Given the description of an element on the screen output the (x, y) to click on. 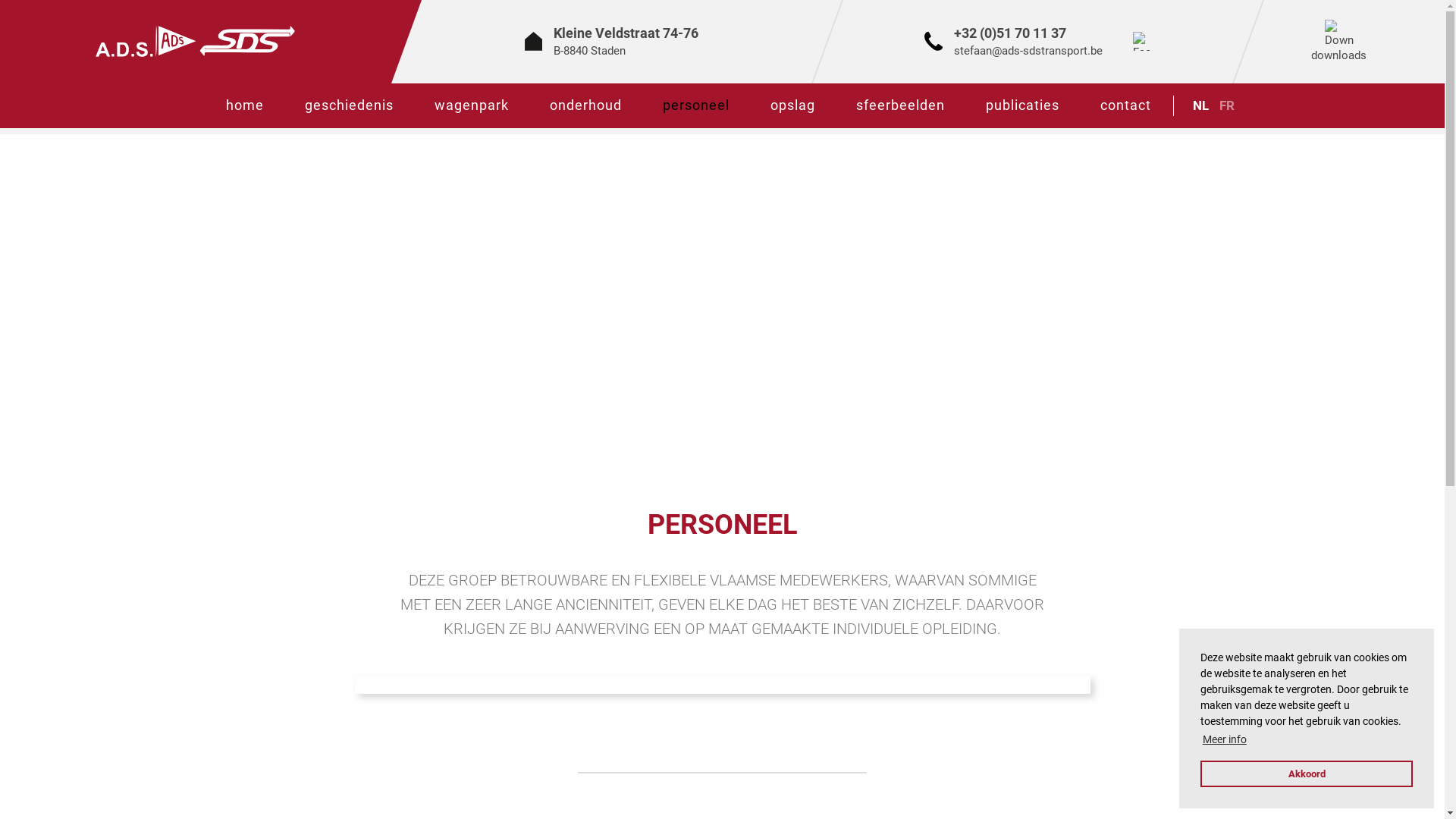
home Element type: text (244, 105)
+32 (0)51 70 11 37 Element type: text (1009, 32)
Meer info Element type: text (1224, 739)
geschiedenis Element type: text (348, 105)
publicaties Element type: text (1021, 105)
Akkoord Element type: text (1306, 773)
onderhoud Element type: text (585, 105)
opslag Element type: text (791, 105)
contact Element type: text (1125, 105)
sfeerbeelden Element type: text (900, 105)
wagenpark Element type: text (471, 105)
personeel Element type: text (695, 105)
downloads Element type: text (1339, 44)
NL Element type: text (1200, 105)
FR Element type: text (1225, 105)
